Given the description of an element on the screen output the (x, y) to click on. 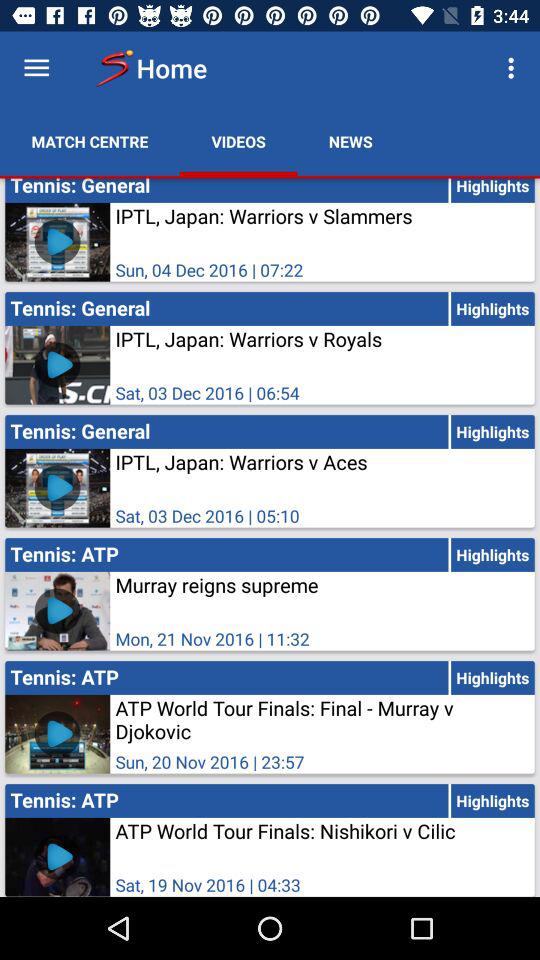
press app to the right of the news app (513, 67)
